Given the description of an element on the screen output the (x, y) to click on. 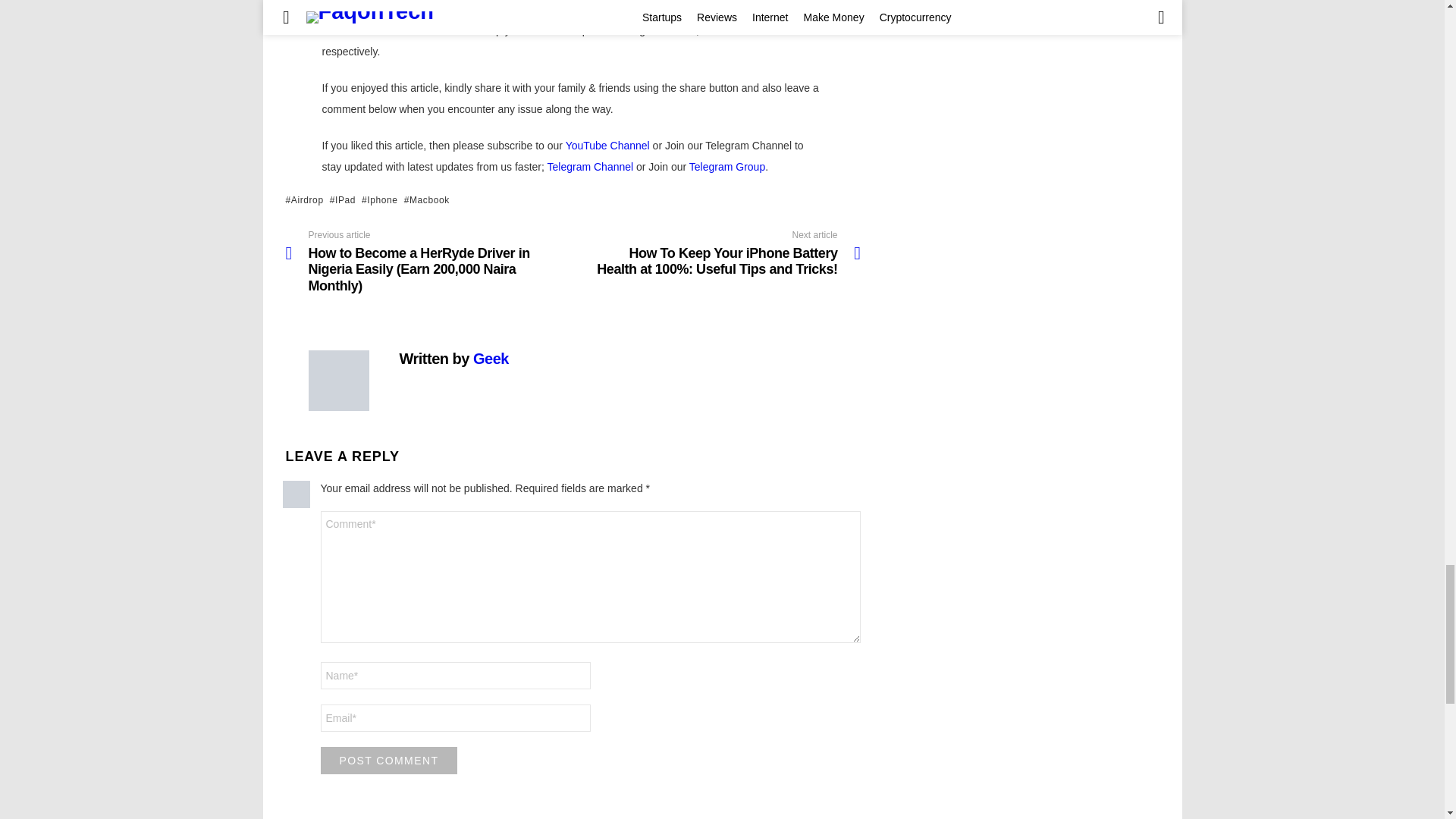
Geek (490, 358)
Iphone (379, 200)
Macbook (426, 200)
Post Comment (388, 759)
Airdrop (304, 200)
YouTube Channel (607, 145)
Telegram Group (726, 166)
Telegram Channel (590, 166)
IPad (342, 200)
